Given the description of an element on the screen output the (x, y) to click on. 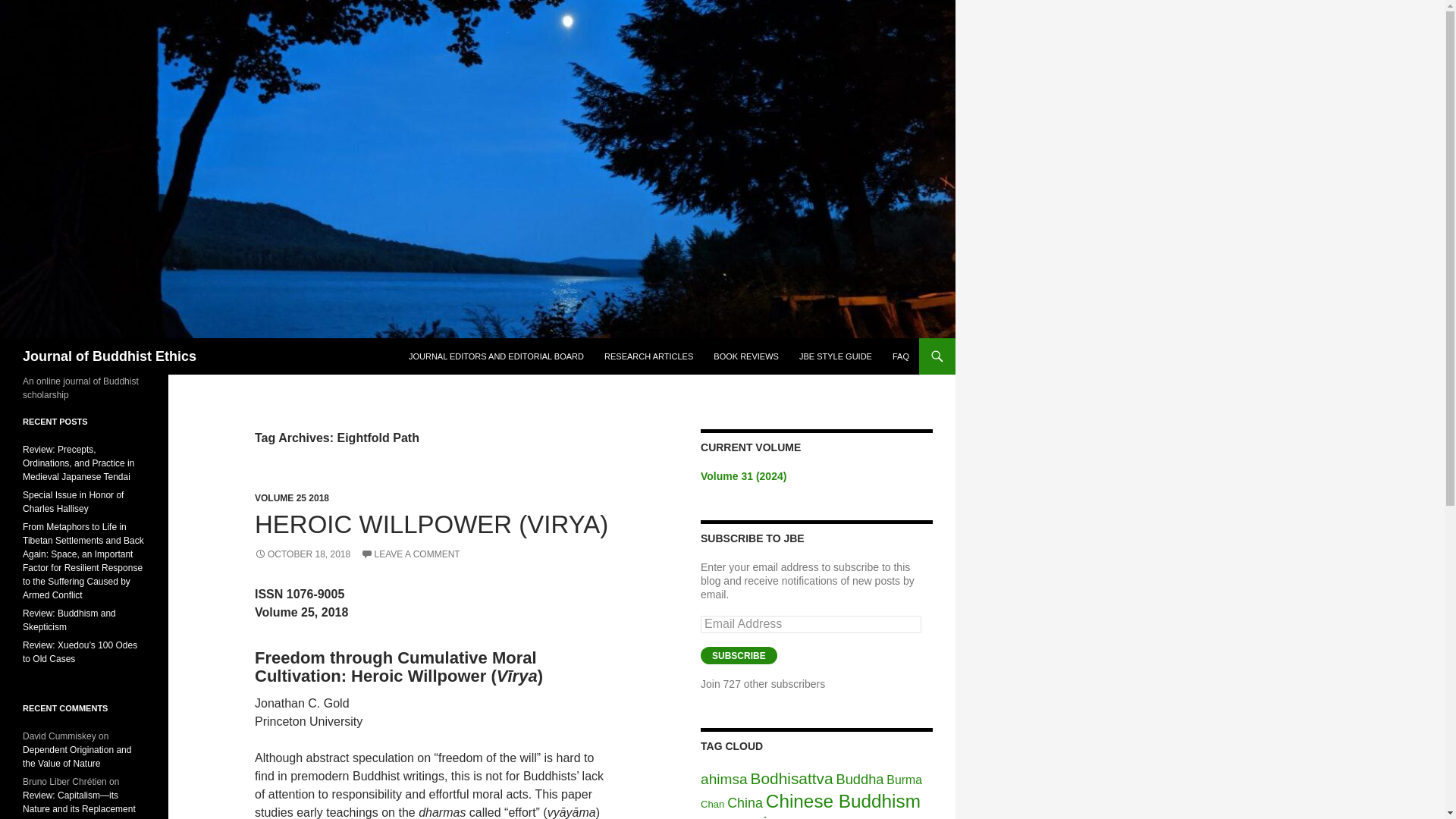
Burma (903, 779)
OCTOBER 18, 2018 (302, 553)
SUBSCRIBE (738, 655)
compassion (742, 816)
FAQ (900, 356)
BOOK REVIEWS (745, 356)
Chinese Buddhism (842, 801)
Chan (711, 803)
death (802, 817)
economics (875, 818)
Bodhisattva (791, 778)
ahimsa (724, 779)
JOURNAL EDITORS AND EDITORIAL BOARD (495, 356)
VOLUME 25 2018 (291, 498)
